Given the description of an element on the screen output the (x, y) to click on. 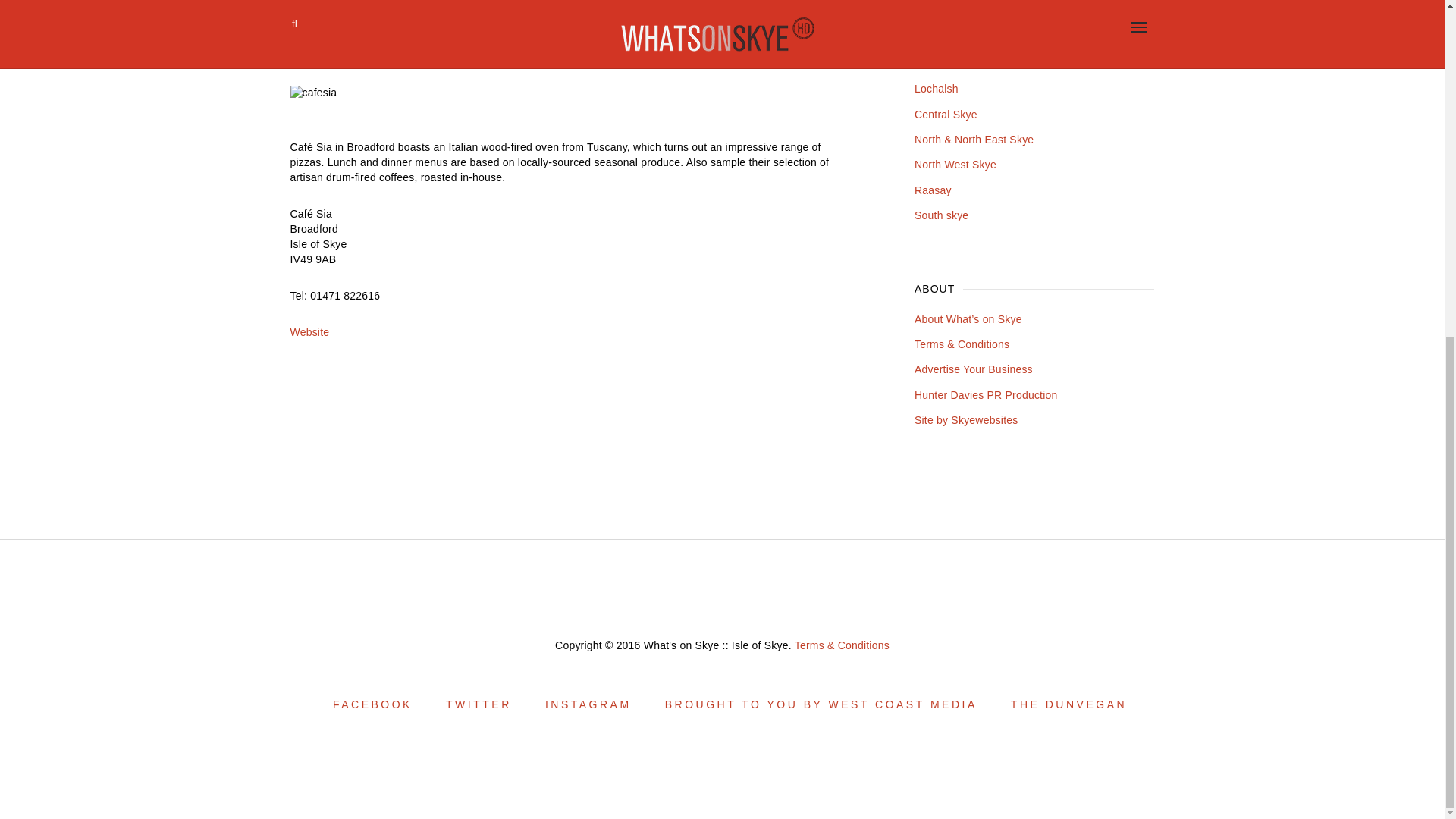
Website (309, 331)
Lochalsh (936, 88)
Central Skye (945, 114)
North West Skye (954, 164)
Raasay (933, 190)
South skye (941, 215)
